Given the description of an element on the screen output the (x, y) to click on. 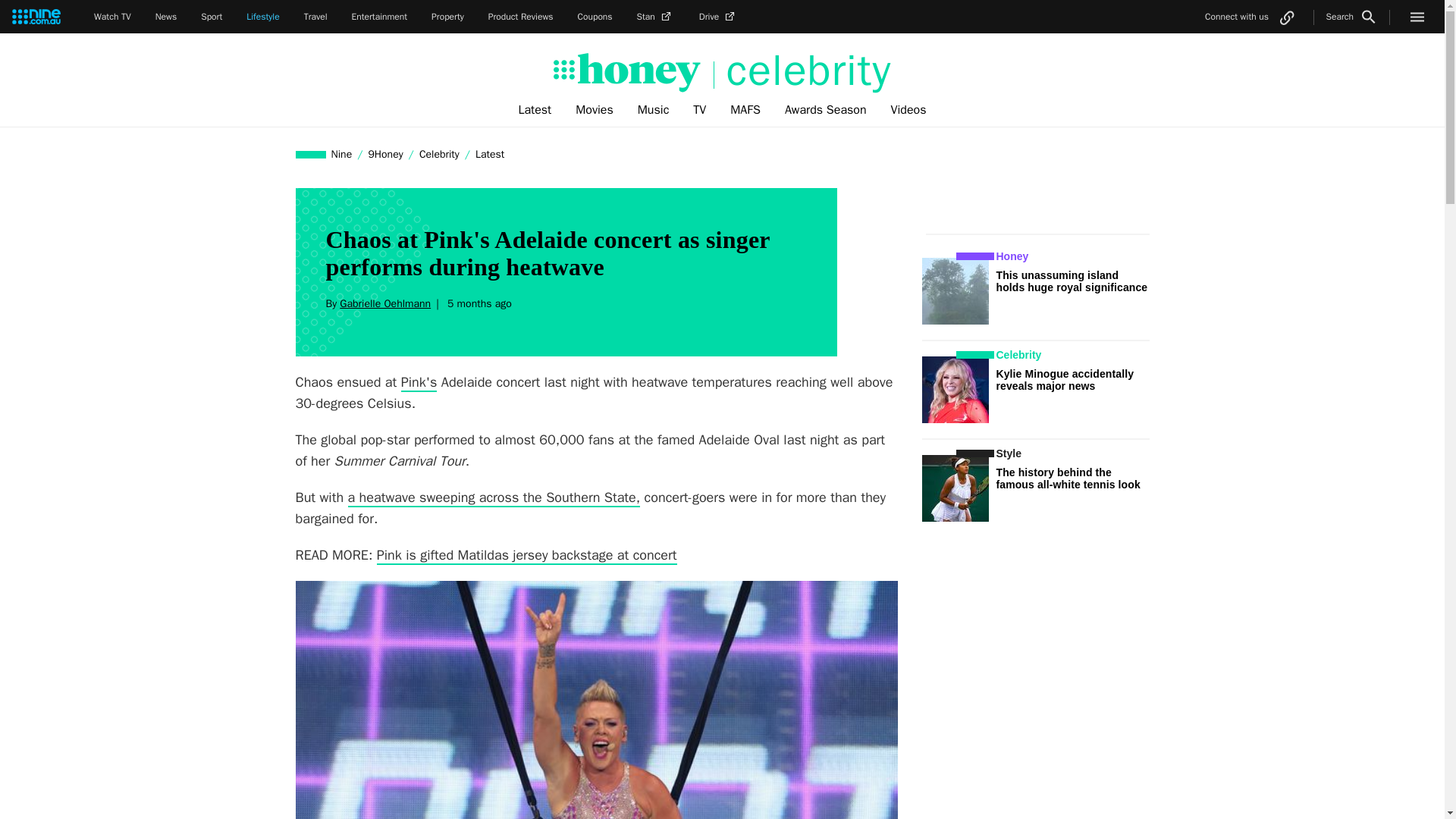
Stan (656, 16)
Pink's (419, 382)
Coupons (595, 16)
Product Reviews (520, 16)
Pink's (419, 382)
2024-02-28 05:41 (477, 303)
Gabrielle Oehlmann (384, 303)
TV (699, 109)
Property (447, 16)
a heatwave sweeping across the Southern State, (493, 497)
Movies (594, 109)
Music (653, 109)
Latest (489, 154)
Nine (342, 154)
Lifestyle (262, 16)
